Given the description of an element on the screen output the (x, y) to click on. 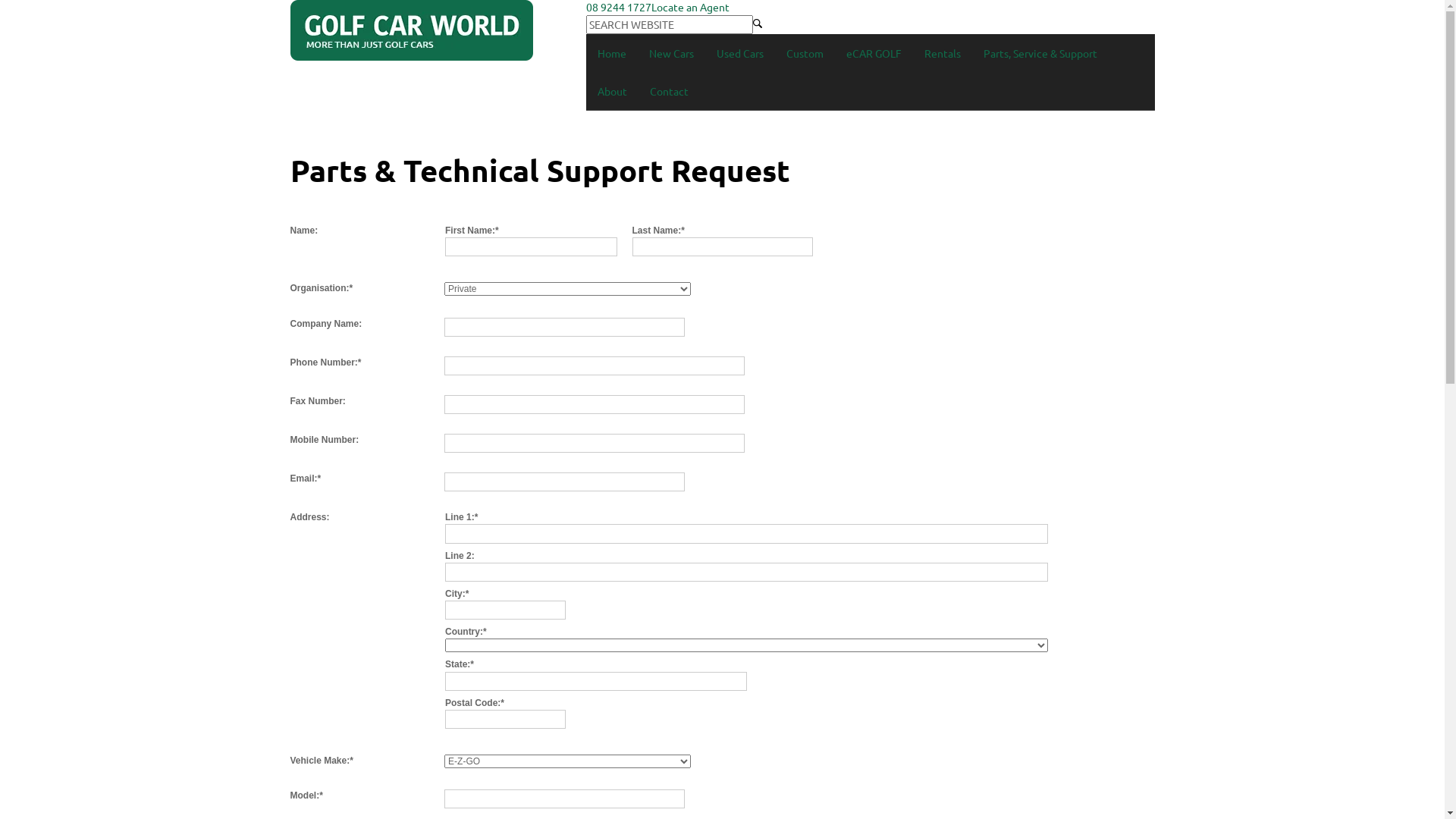
About Element type: text (611, 90)
Go Element type: hover (756, 21)
Parts, Service & Support Element type: text (1040, 53)
Contact Element type: text (668, 90)
08 9244 1727 Element type: text (617, 6)
Locate an Agent Element type: text (689, 6)
Home Element type: text (611, 53)
New Cars Element type: text (670, 53)
Rentals Element type: text (942, 53)
Custom Element type: text (804, 53)
Used Cars Element type: text (740, 53)
eCAR GOLF Element type: text (873, 53)
